Given the description of an element on the screen output the (x, y) to click on. 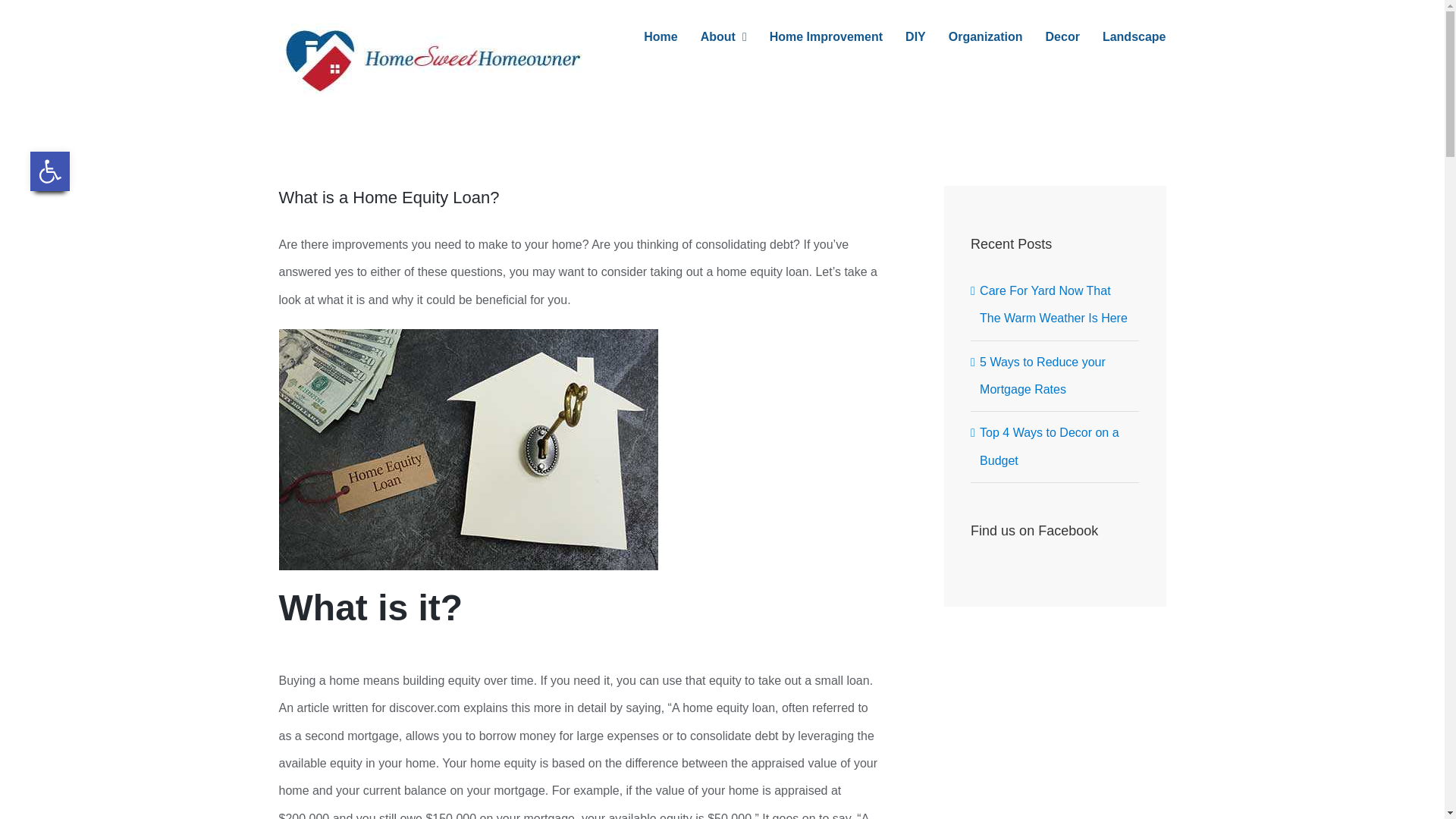
Home Improvement (826, 36)
DIY (915, 36)
5 Ways to Reduce your Mortgage Rates (1042, 375)
Decor (1062, 36)
Accessibility (49, 170)
Landscape (1134, 36)
Top 4 Ways to Decor on a Budget (1049, 445)
Care For Yard Now That The Warm Weather Is Here (1052, 304)
